Given the description of an element on the screen output the (x, y) to click on. 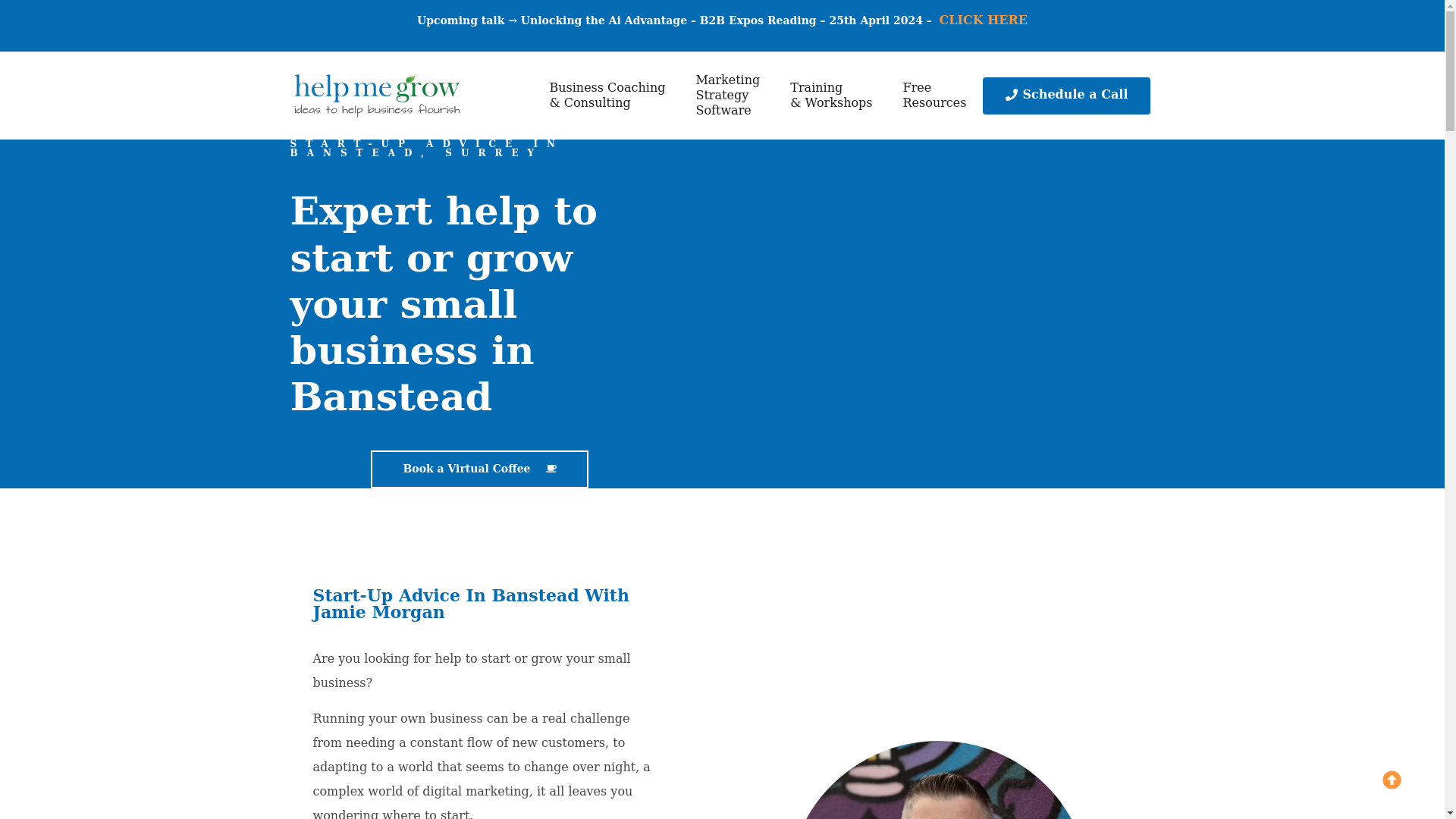
help-me-grow-logo (934, 95)
Book a Virtual Coffee (376, 95)
CLICK HERE (479, 469)
Schedule a Call (726, 95)
